Given the description of an element on the screen output the (x, y) to click on. 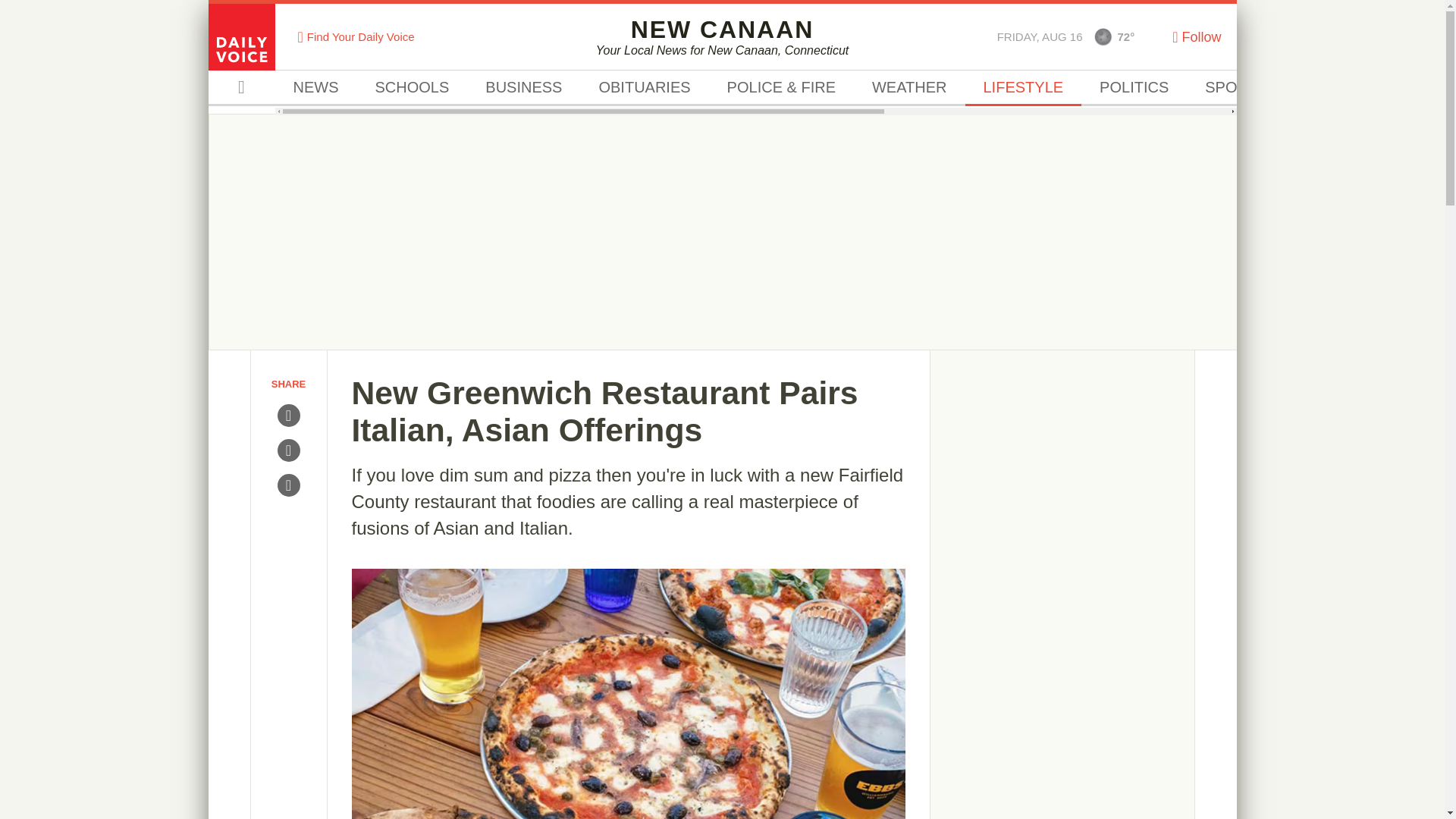
OBITUARIES (643, 88)
LIFESTYLE (721, 36)
SCHOOLS (1022, 88)
POLITICS (411, 88)
Fair (1133, 88)
REAL ESTATE (1102, 36)
NEWS (1353, 88)
SPORTS (315, 88)
WEATHER (1235, 88)
